Given the description of an element on the screen output the (x, y) to click on. 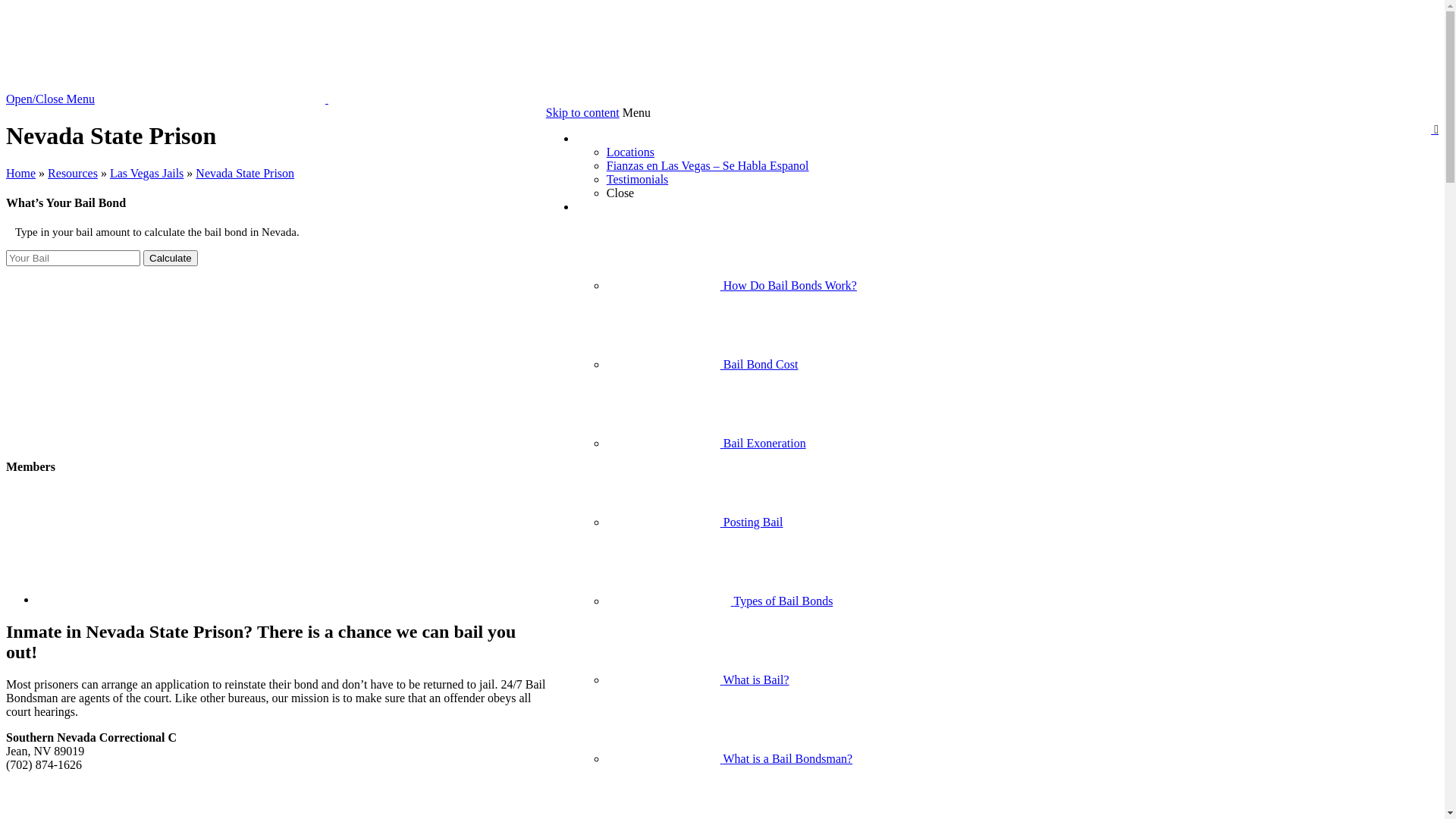
247 Bailbonds Element type: hover (326, 98)
Las Vegas Jails Element type: text (146, 172)
What is a Bail Bondsman? Element type: text (729, 758)
Locations Element type: text (630, 151)
Bail Exoneration Element type: text (706, 442)
Nevada State Prison Element type: text (244, 172)
About Element type: text (591, 137)
Testimonials Element type: text (637, 178)
Bail Bond Cost Element type: text (702, 363)
Menu Element type: text (636, 112)
Open/Close Menu Element type: text (50, 98)
Bail Bonds 101 Element type: text (614, 206)
Resources Element type: text (72, 172)
Posting Bail Element type: text (694, 521)
How Do Bail Bonds Work? Element type: text (731, 285)
Skip to content Element type: text (582, 112)
Types of Bail Bonds Element type: text (719, 600)
702.660.1155 Element type: text (95, 12)
What is Bail? Element type: text (697, 679)
Calculate Element type: text (170, 258)
Home Element type: text (20, 172)
